Given the description of an element on the screen output the (x, y) to click on. 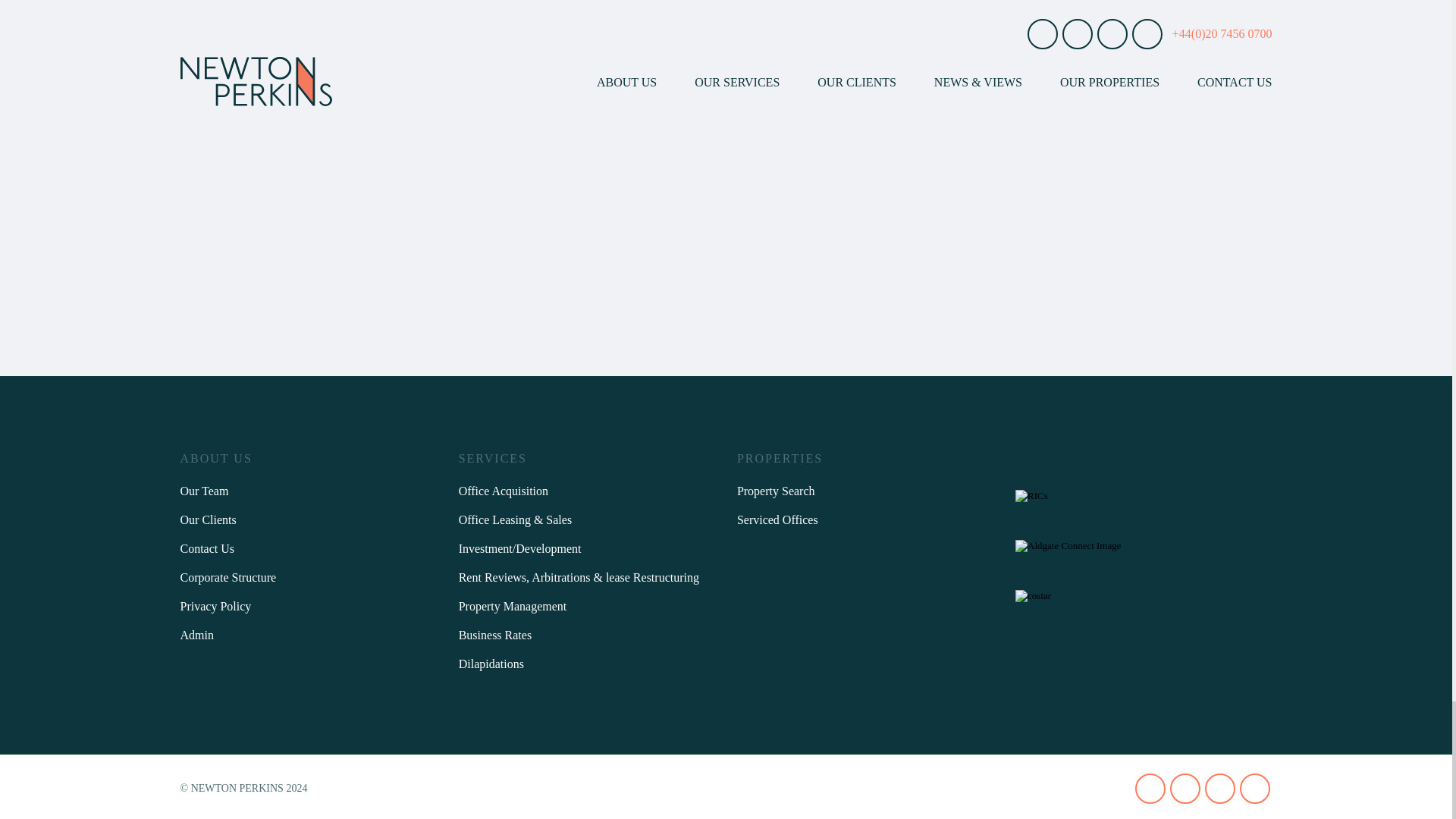
Corporate Structure (308, 577)
Our Team (308, 491)
Contact Us (308, 548)
Our Clients (308, 520)
Privacy Policy (308, 606)
Aldgate Connect (1091, 545)
